Given the description of an element on the screen output the (x, y) to click on. 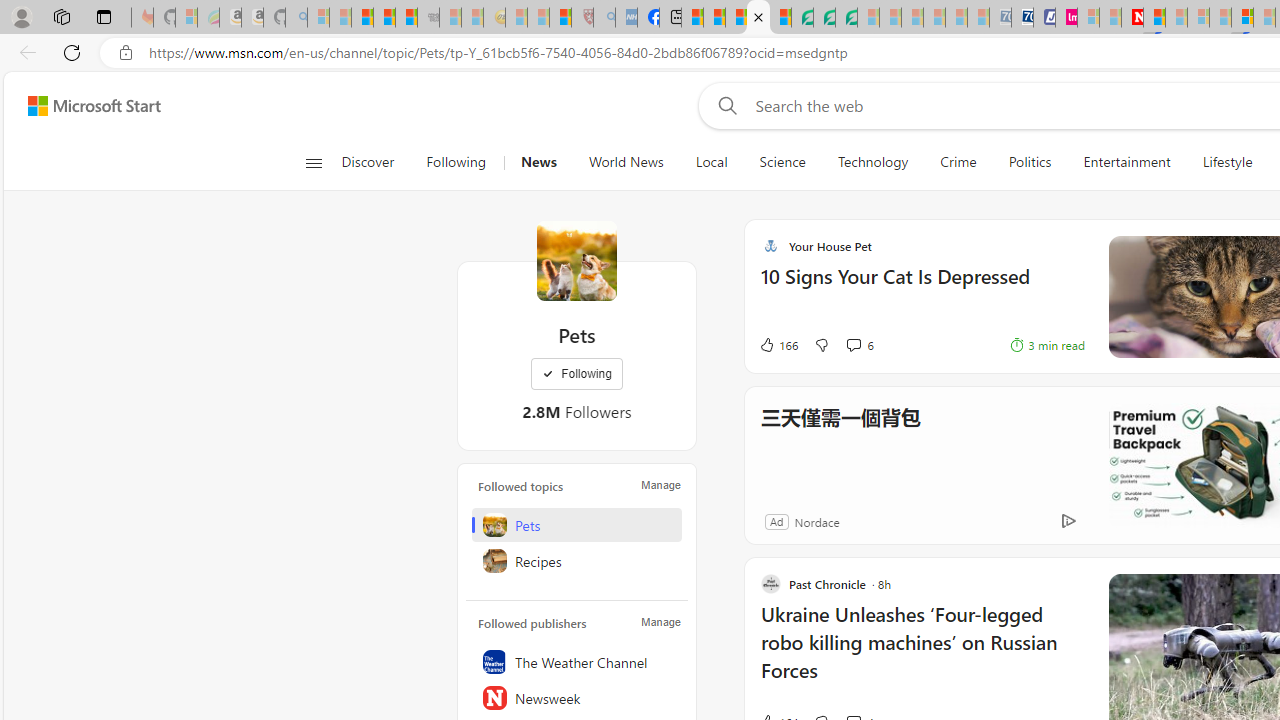
Jobs - lastminute.com Investor Portal (1066, 17)
LendingTree - Compare Lenders (802, 17)
Local - MSN (560, 17)
